Given the description of an element on the screen output the (x, y) to click on. 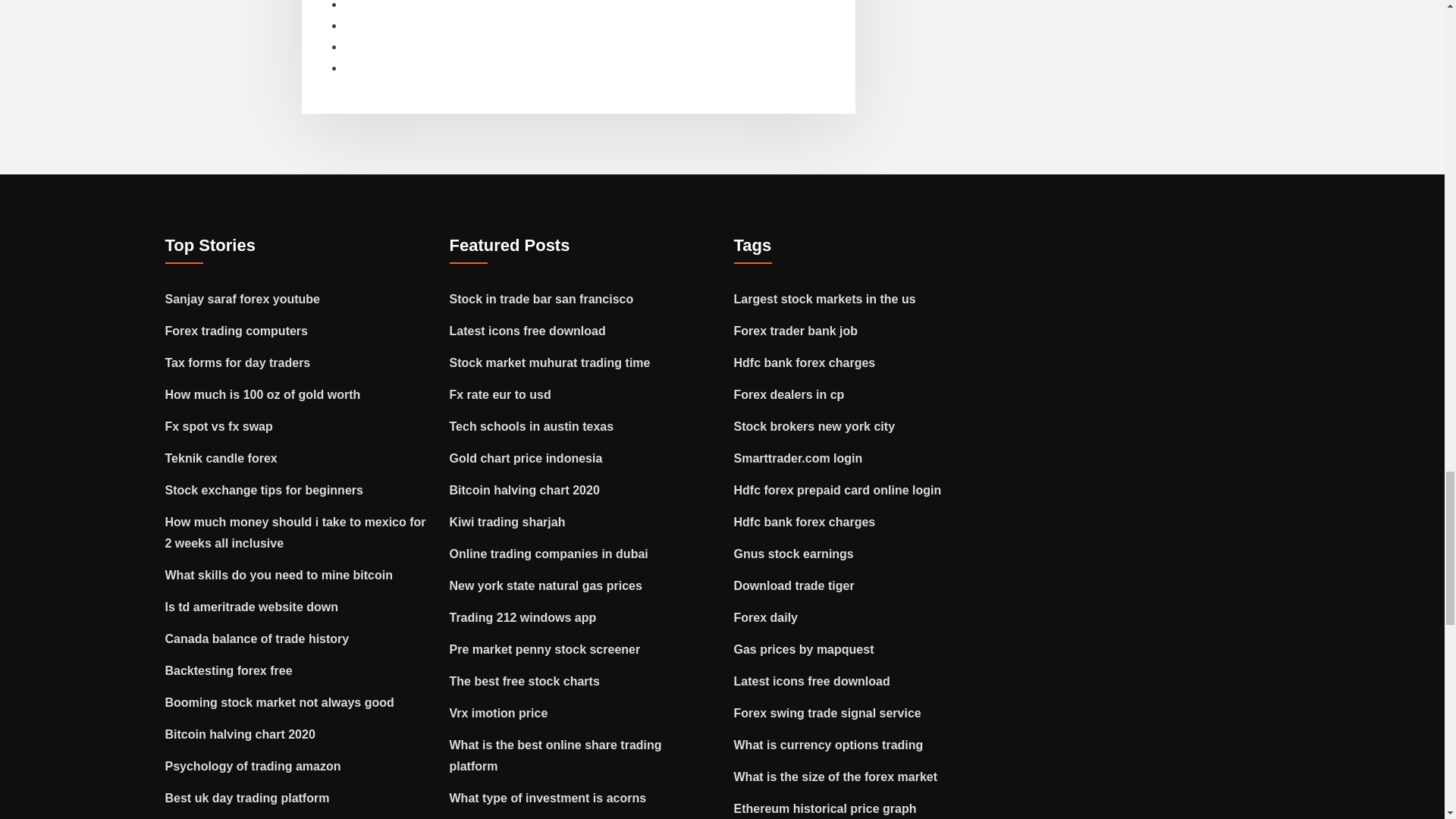
Teknik candle forex (221, 458)
Canada balance of trade history (257, 638)
Forex trading computers (236, 330)
Backtesting forex free (228, 670)
Tax forms for day traders (238, 362)
Fx spot vs fx swap (219, 426)
How much is 100 oz of gold worth (263, 394)
Sanjay saraf forex youtube (242, 298)
Best uk day trading platform (247, 797)
